Given the description of an element on the screen output the (x, y) to click on. 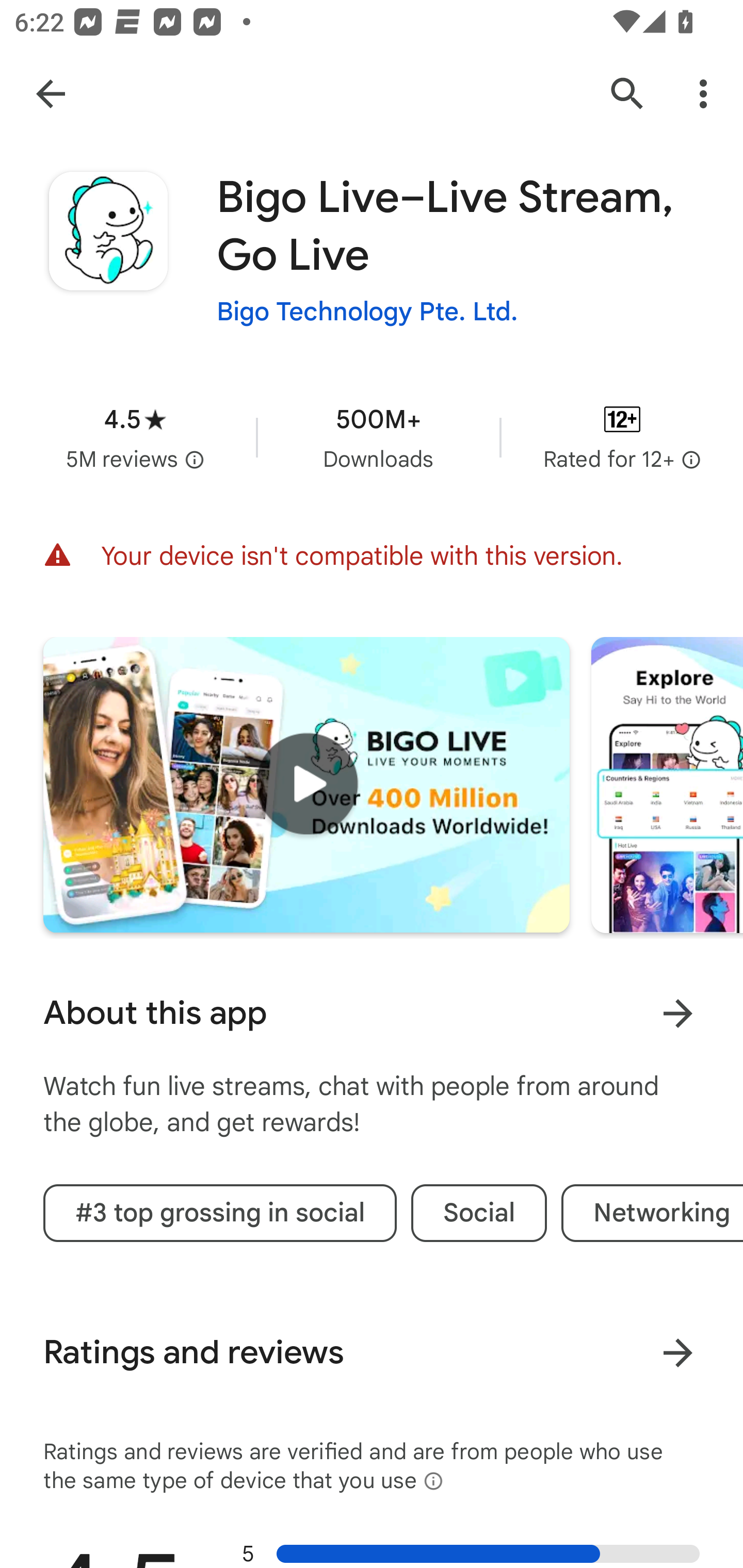
Navigate up (50, 92)
Search Google Play (626, 93)
More options (706, 93)
Bigo Technology Pte. Ltd. (367, 310)
Content rating Rated for 12+ Rated for 12+   (622, 437)
Play trailer for "Bigo Live–Live Stream, Go Live" (306, 784)
Screenshot "1" of "8" (667, 784)
About this app
 More results for About this app (371, 1012)
More results for About this app (677, 1013)
Social Social tag (478, 1212)
Networking Networking tag (652, 1212)
More (677, 1353)
